Given the description of an element on the screen output the (x, y) to click on. 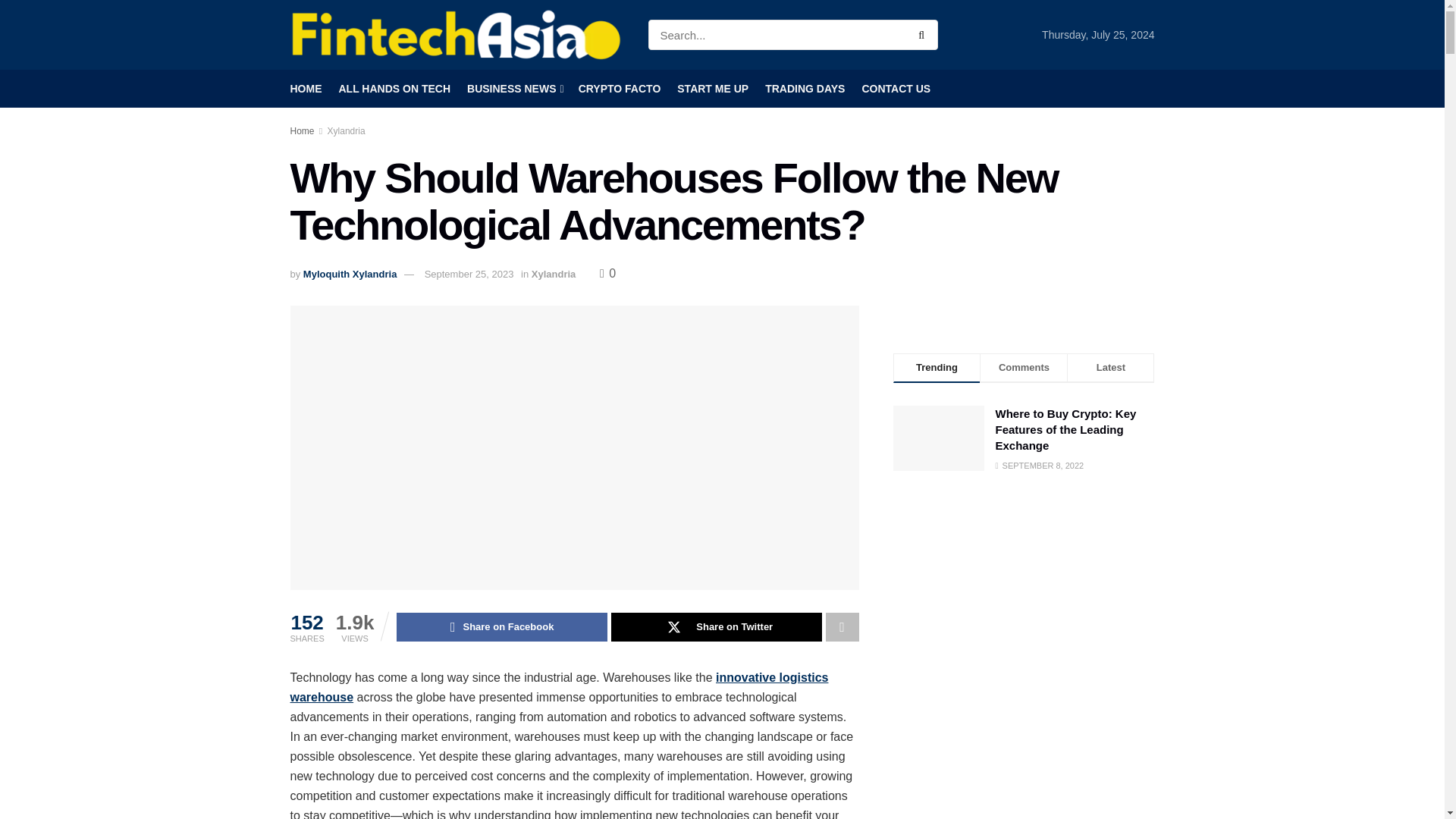
Xylandria (346, 131)
0 (607, 273)
CONTACT US (895, 88)
Share on Facebook (501, 626)
Xylandria (553, 274)
ALL HANDS ON TECH (393, 88)
Myloquith Xylandria (349, 274)
Share on Twitter (716, 626)
START ME UP (712, 88)
September 25, 2023 (469, 274)
CRYPTO FACTO (619, 88)
Home (301, 131)
TRADING DAYS (804, 88)
BUSINESS NEWS (514, 88)
